Given the description of an element on the screen output the (x, y) to click on. 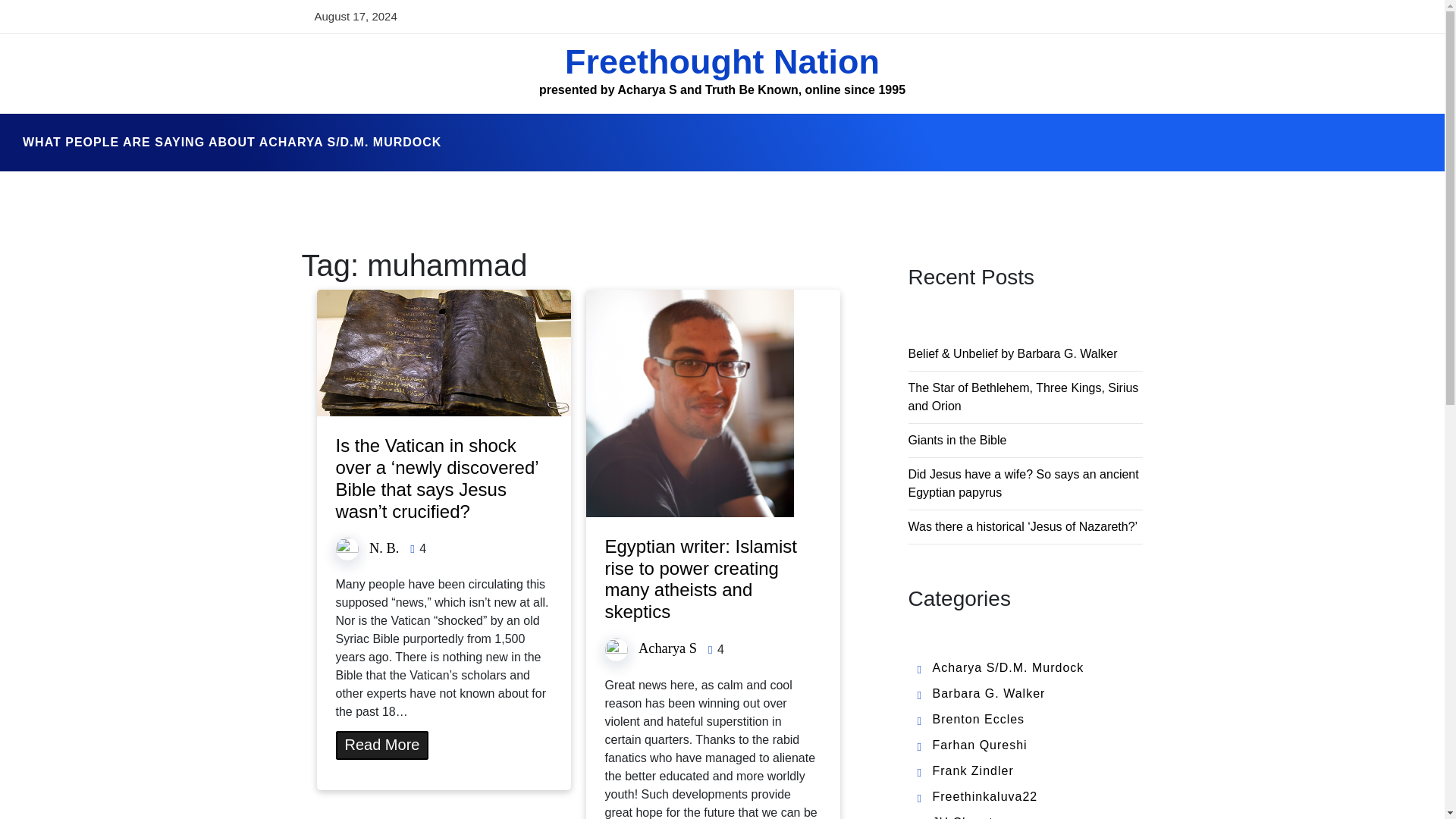
Read More (381, 745)
The Star of Bethlehem, Three Kings, Sirius and Orion (1023, 396)
Did Jesus have a wife? So says an ancient Egyptian papyrus (1023, 482)
N. B. (383, 548)
Farhan Qureshi (980, 744)
JH Chrestos (970, 817)
Brenton Eccles (979, 718)
Freethought Nation (721, 61)
Giants in the Bible (957, 440)
